Given the description of an element on the screen output the (x, y) to click on. 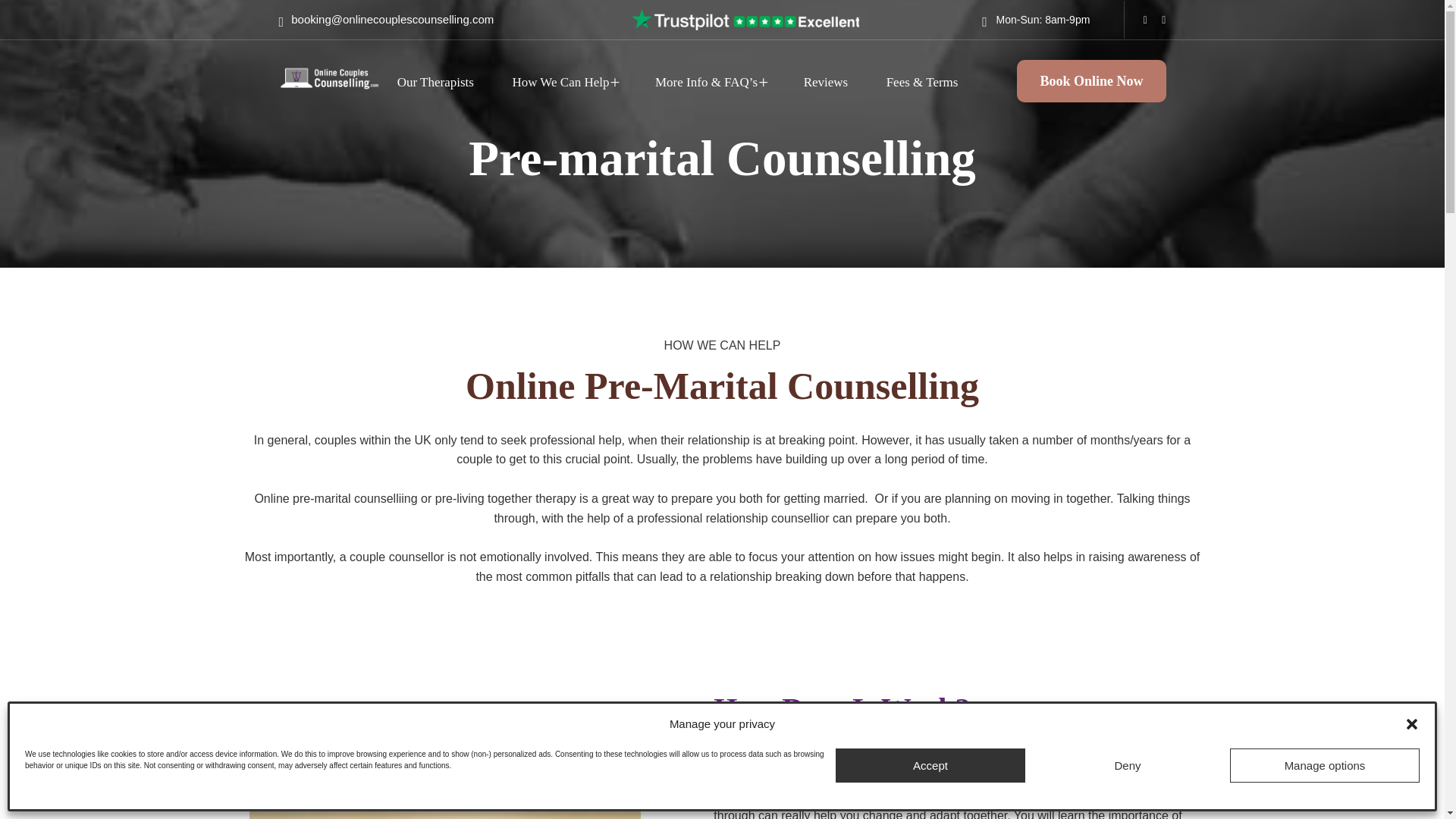
Accept (930, 765)
Deny (1127, 765)
Manage options (1324, 765)
